Given the description of an element on the screen output the (x, y) to click on. 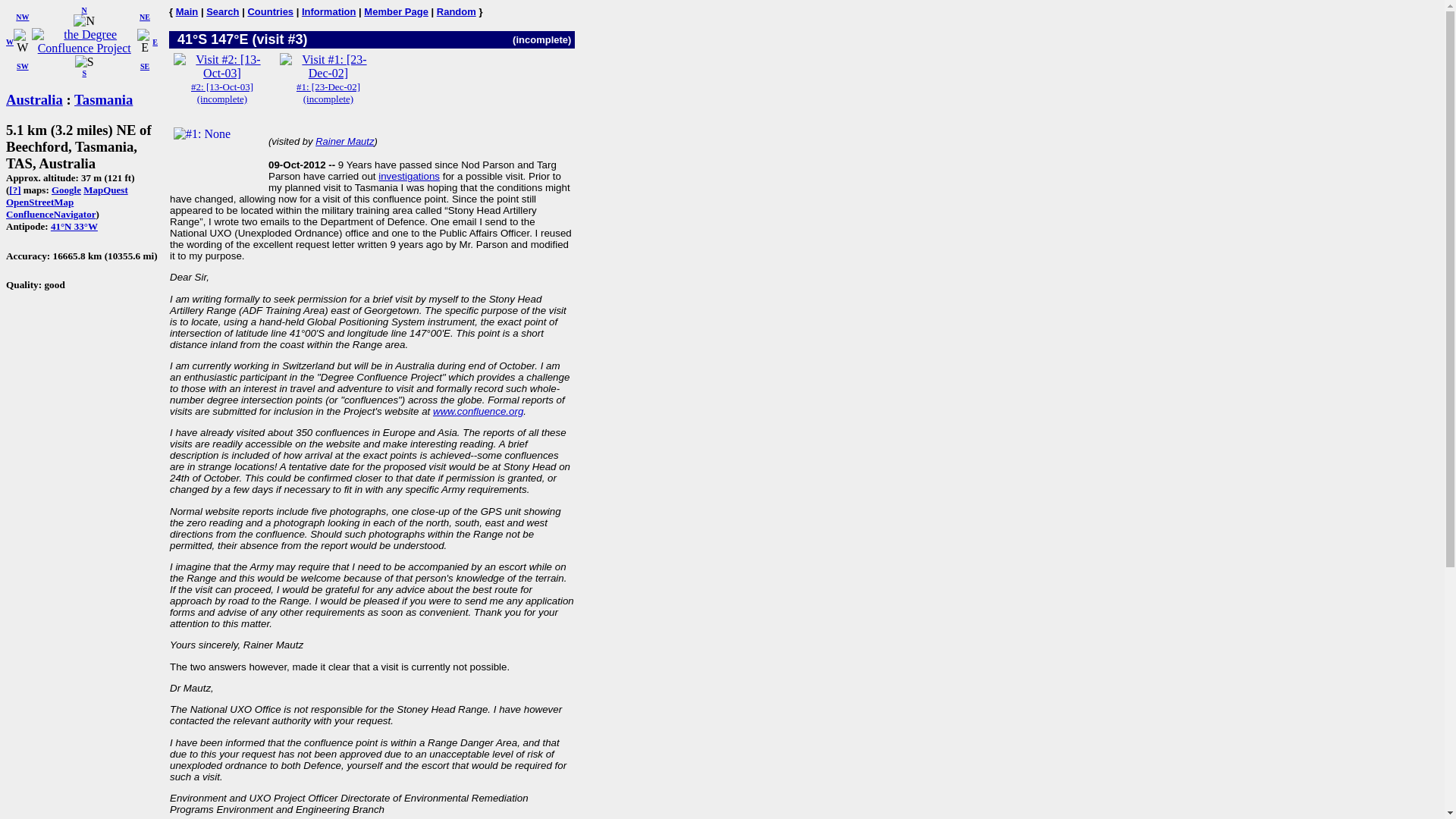
Google (65, 189)
OpenStreetMap (39, 202)
Main (187, 11)
S (84, 61)
Tasmania (103, 99)
MapQuest (105, 189)
N (84, 20)
Countries (270, 11)
SE (144, 66)
Random (456, 11)
